Given the description of an element on the screen output the (x, y) to click on. 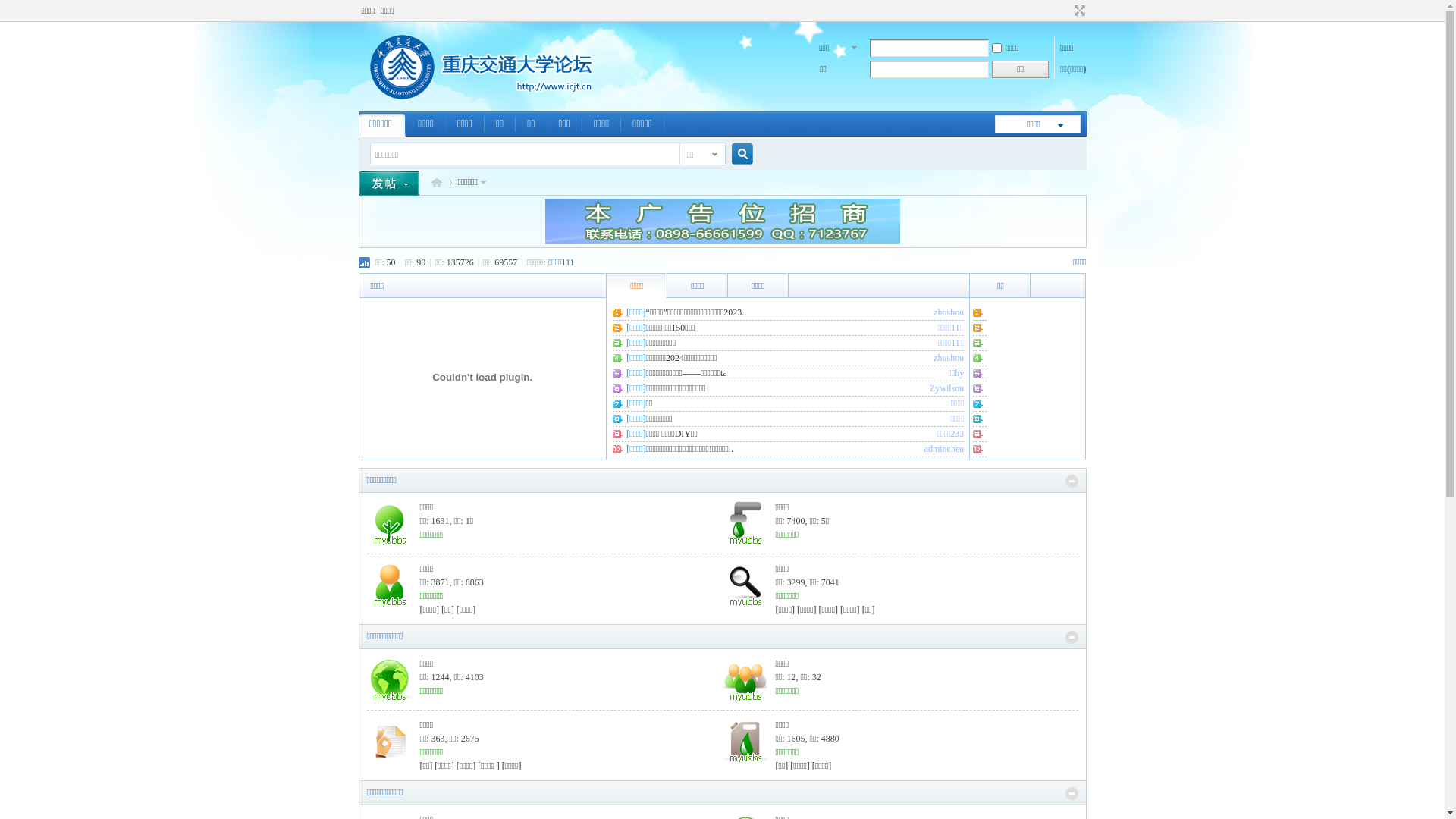
zhushou Element type: text (948, 357)
Zywilson Element type: text (946, 387)
zhushou Element type: text (948, 312)
true Element type: text (735, 154)
adminchen Element type: text (944, 448)
     Element type: text (393, 182)
